Given the description of an element on the screen output the (x, y) to click on. 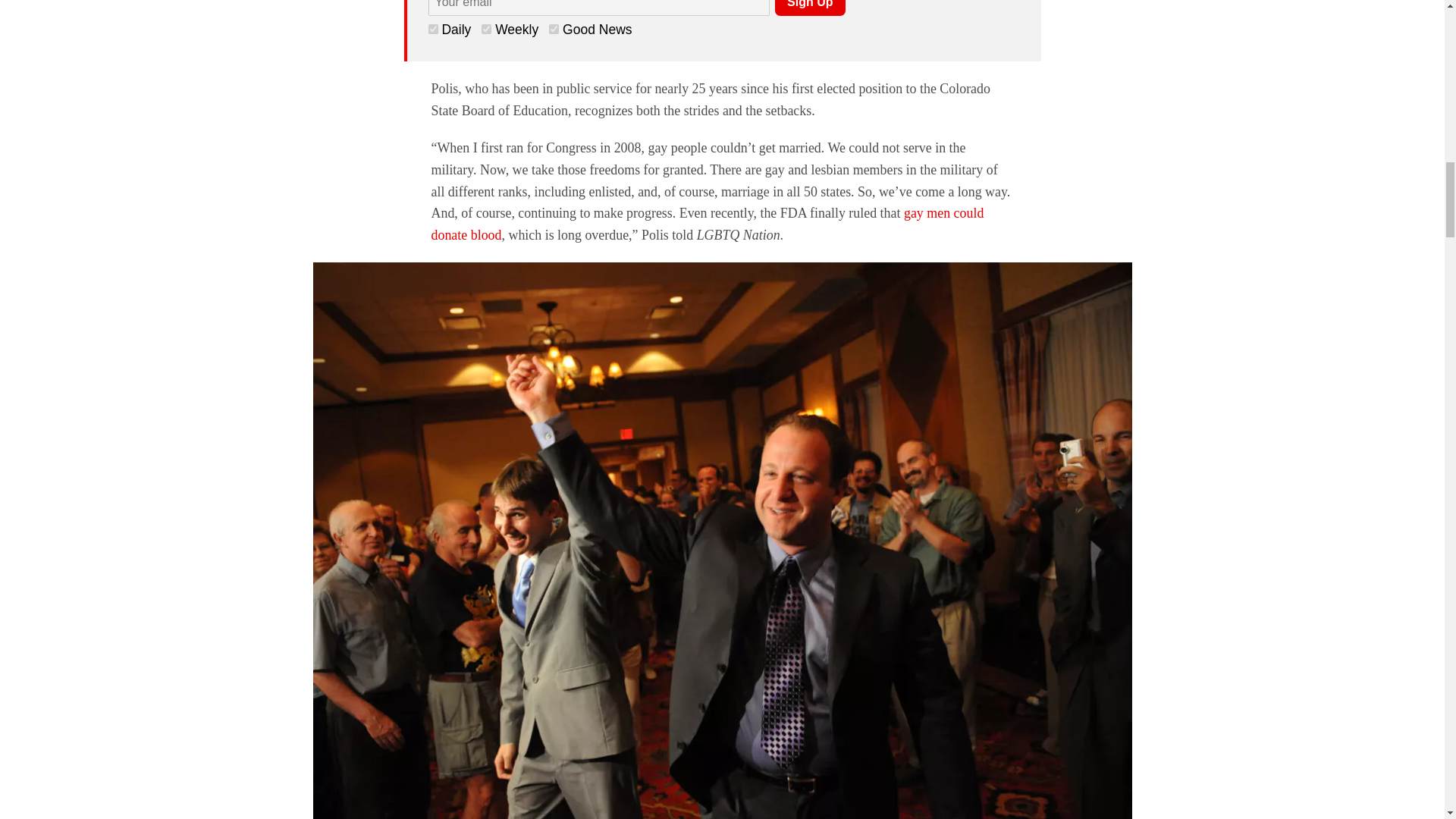
gay men could donate blood (707, 223)
Sign Up (809, 8)
Sign Up (809, 8)
1920884 (486, 29)
1920883 (553, 29)
1920885 (433, 29)
